Given the description of an element on the screen output the (x, y) to click on. 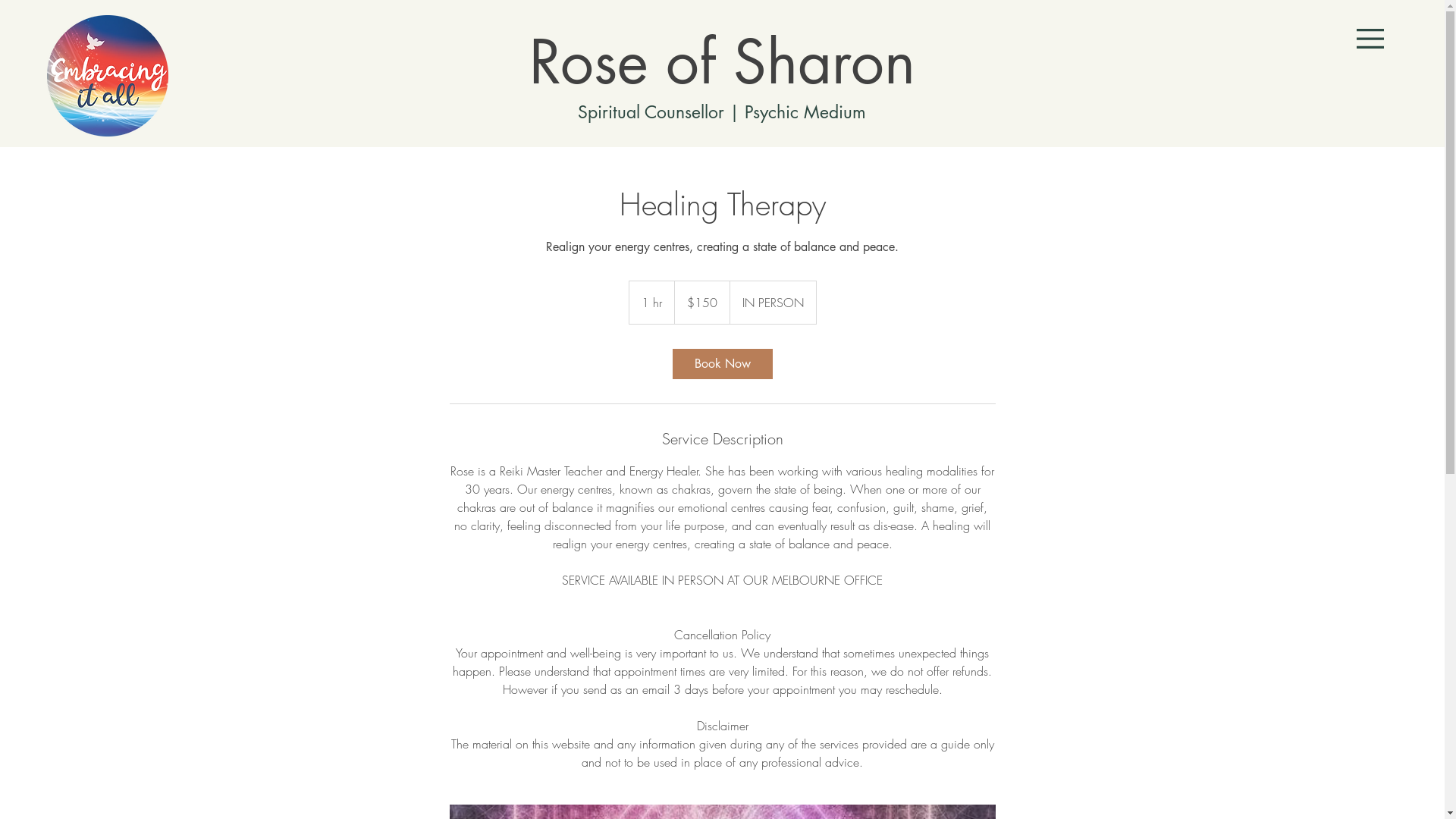
Book Now Element type: text (721, 363)
